Given the description of an element on the screen output the (x, y) to click on. 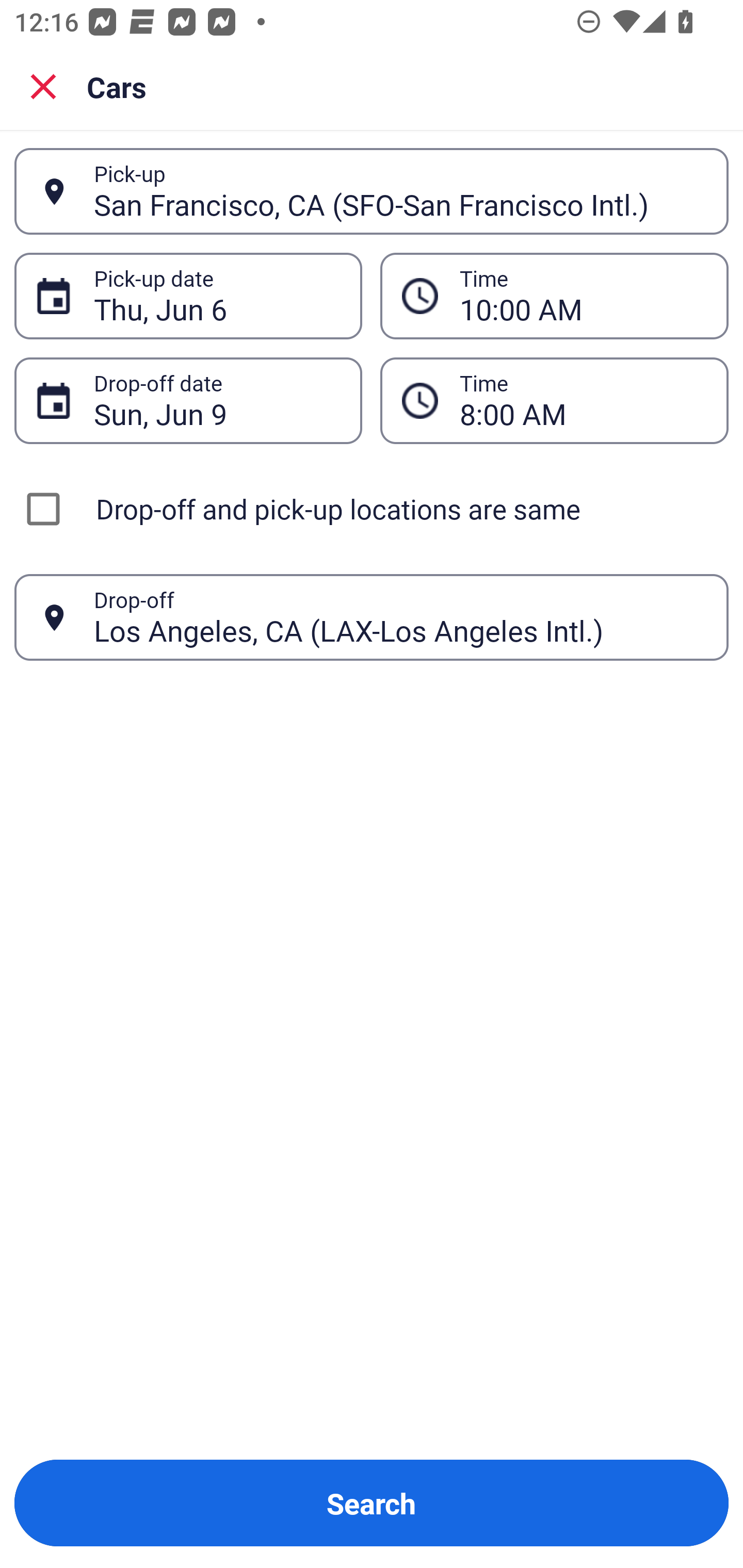
Close search screen (43, 86)
San Francisco, CA (SFO-San Francisco Intl.) (399, 191)
Thu, Jun 6 Pick-up date (188, 295)
10:00 AM (554, 295)
Thu, Jun 6 (216, 296)
10:00 AM (582, 296)
Sun, Jun 9 Drop-off date (188, 400)
8:00 AM (554, 400)
Sun, Jun 9 (216, 400)
8:00 AM (582, 400)
Drop-off and pick-up locations are same (371, 508)
Los Angeles, CA (LAX-Los Angeles Intl.) Drop-off (371, 616)
Los Angeles, CA (LAX-Los Angeles Intl.) (399, 616)
Search Button Search (371, 1502)
